Given the description of an element on the screen output the (x, y) to click on. 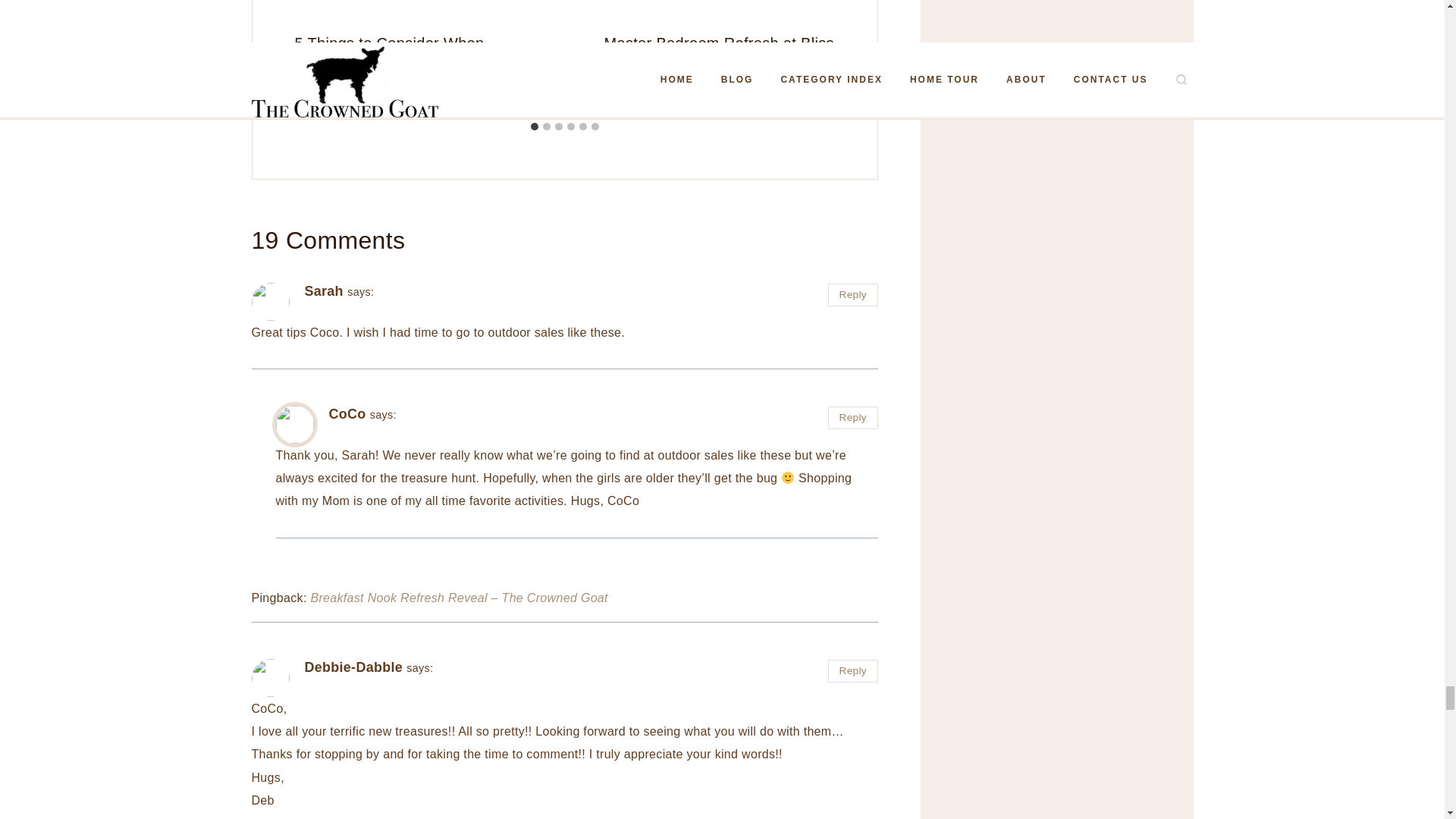
Master Bedroom Refresh at Bliss Barracks (718, 54)
5 Things to Consider When Buying Wall Art (388, 54)
